Given the description of an element on the screen output the (x, y) to click on. 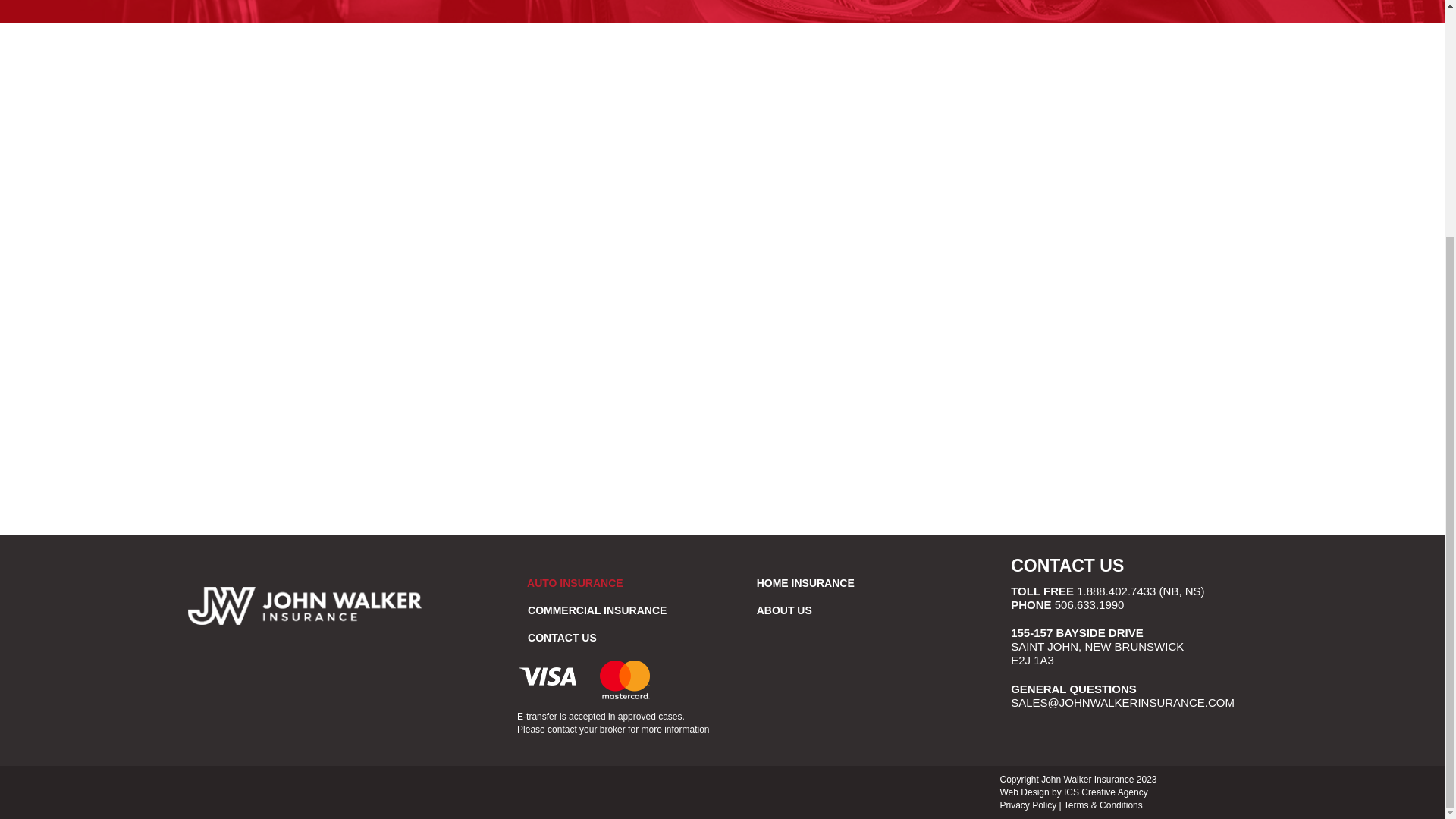
COMMERCIAL INSURANCE (641, 610)
CONTACT US (1067, 565)
506.633.1990 (1089, 604)
CONTACT US (641, 637)
CONTACT US (1067, 565)
1.888.402.7433 (1096, 646)
Layer 14 (1116, 590)
HOME INSURANCE (584, 679)
ICS Creative Agency (871, 583)
ABOUT US (1106, 792)
 John Walker Insurance Quote Form  (871, 610)
AUTO INSURANCE (304, 605)
